Given the description of an element on the screen output the (x, y) to click on. 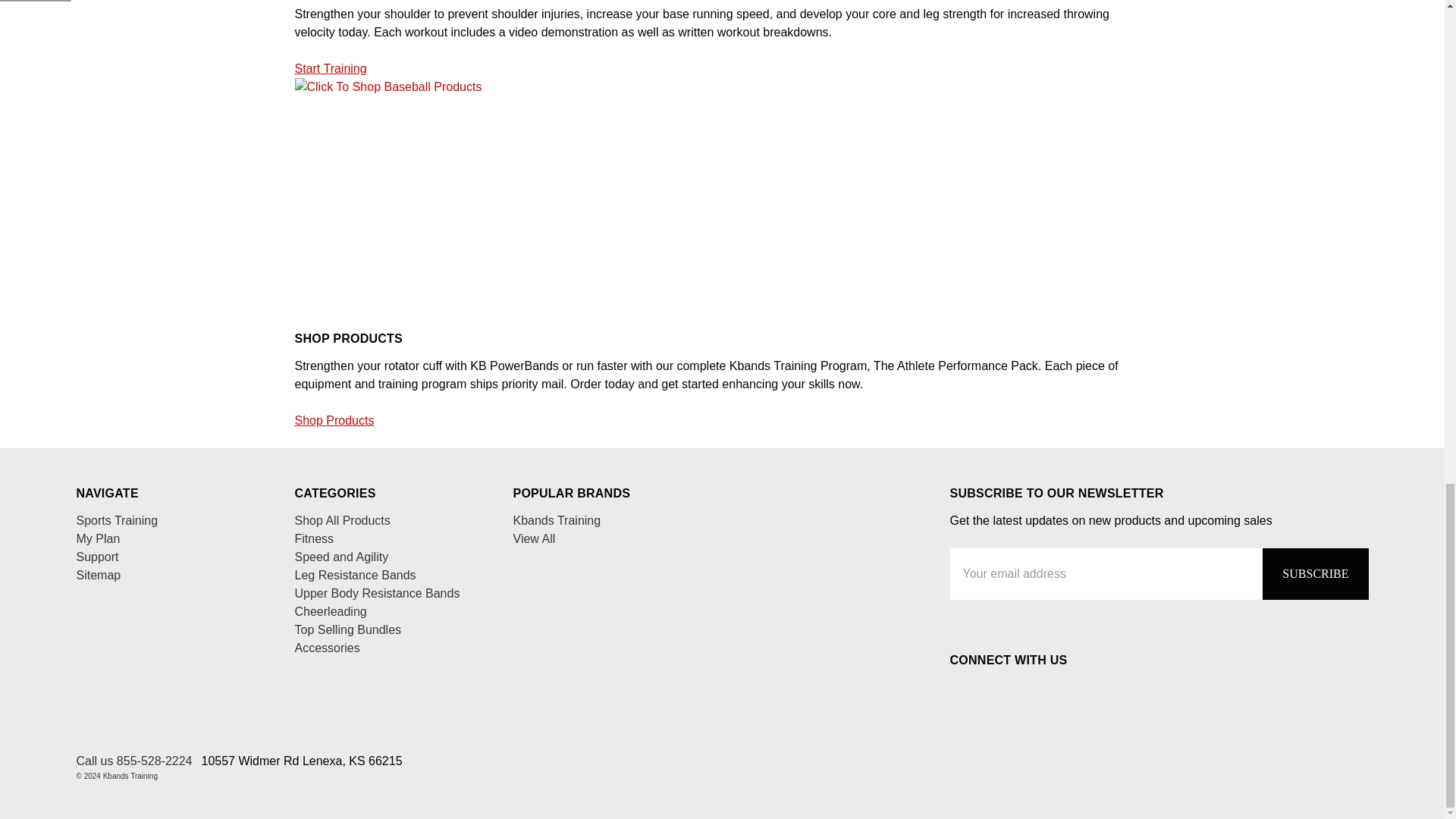
Click To Shop Baseball Products (479, 189)
Subscribe (1315, 573)
